Given the description of an element on the screen output the (x, y) to click on. 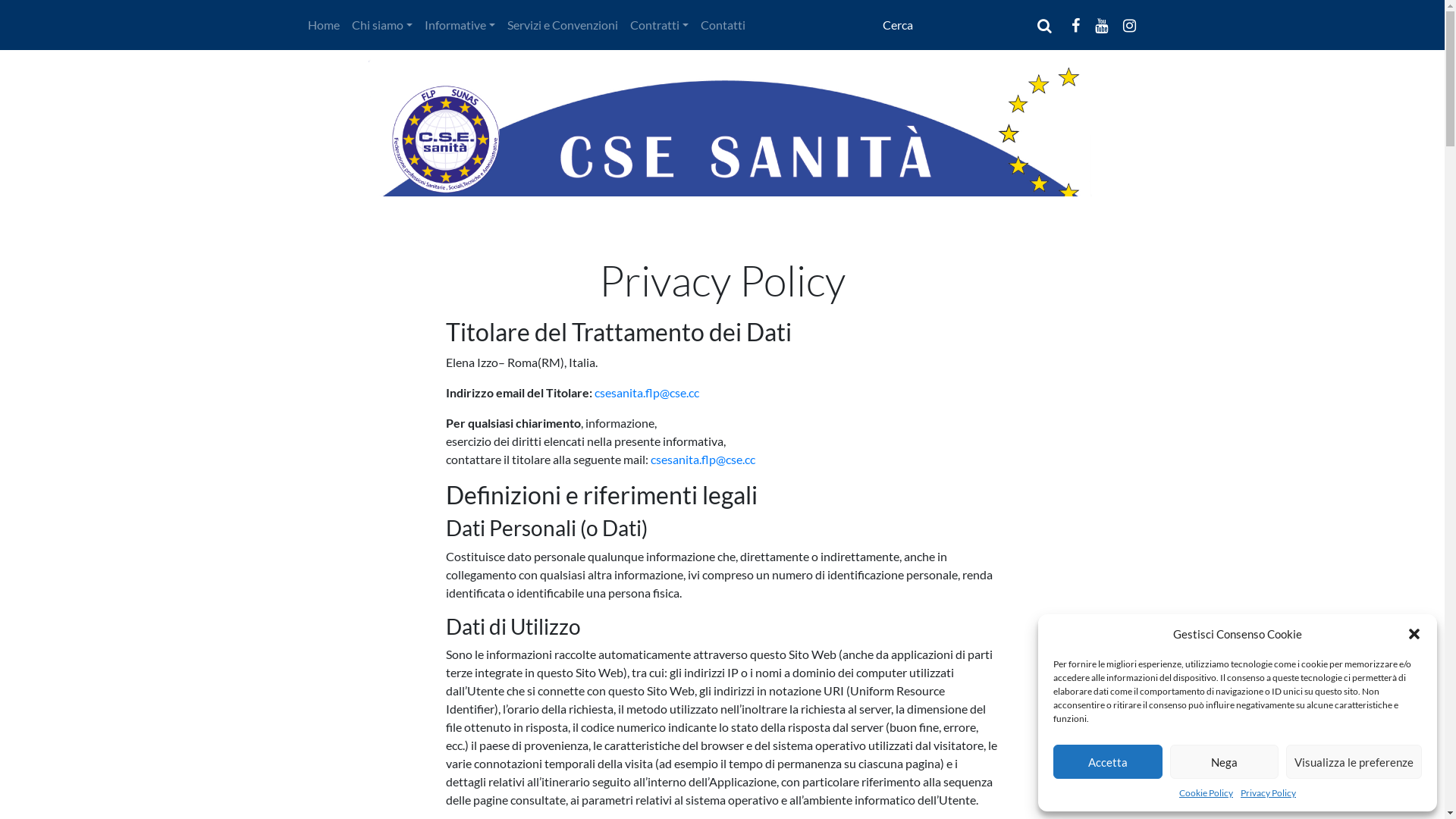
Chi siamo Element type: text (381, 24)
Home Element type: text (323, 24)
Visualizza le preferenze Element type: text (1353, 761)
csesanita.flp@cse.cc Element type: text (646, 392)
Privacy Policy Element type: text (1267, 793)
Informative Element type: text (459, 24)
Contatti Element type: text (722, 24)
Accetta Element type: text (1107, 761)
csesanita.flp@cse.cc Element type: text (702, 458)
Cookie Policy Element type: text (1206, 793)
Servizi e Convenzioni Element type: text (562, 24)
Nega Element type: text (1223, 761)
Contratti Element type: text (659, 24)
